Given the description of an element on the screen output the (x, y) to click on. 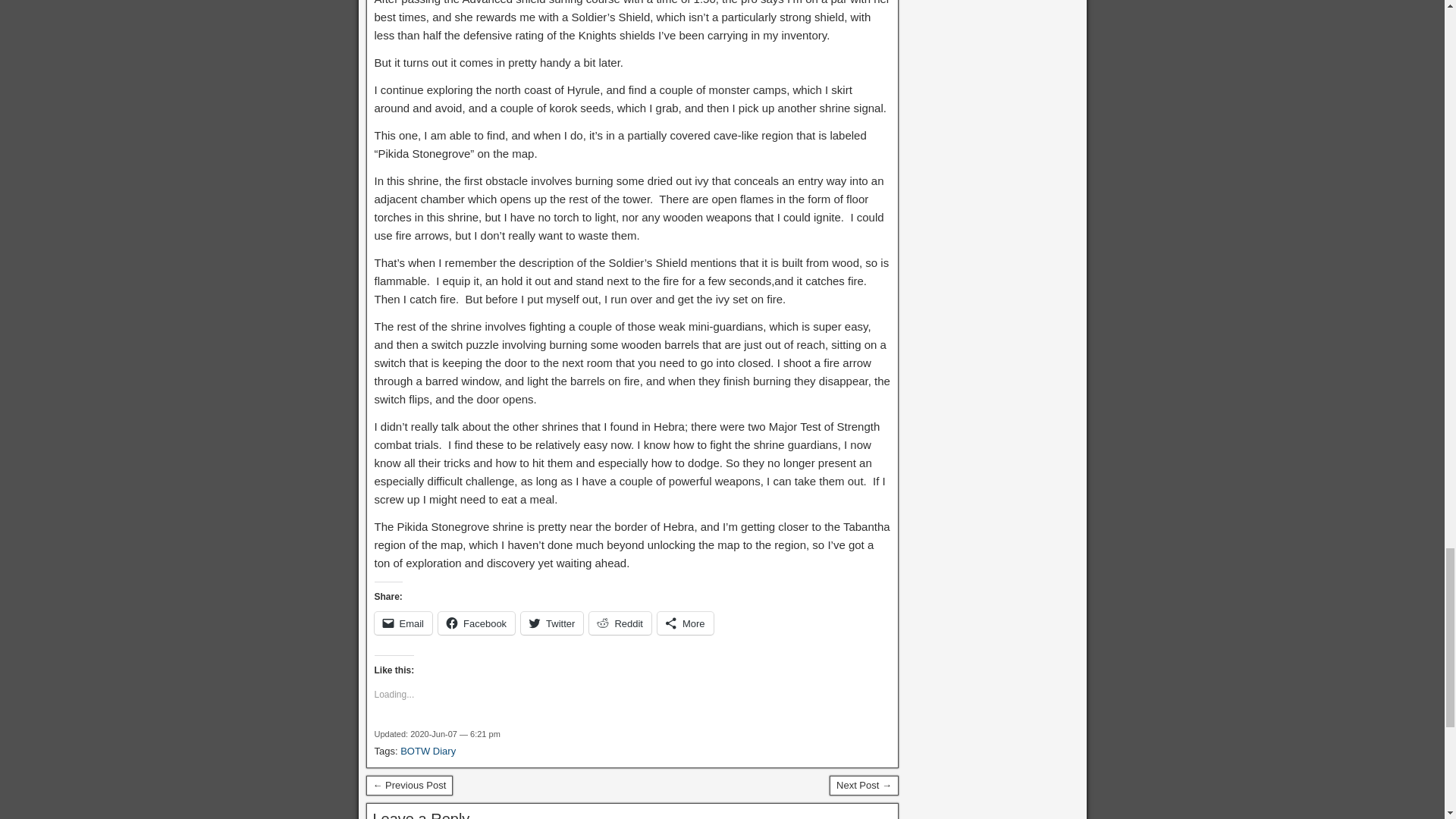
Click to share on Facebook (476, 622)
Click to email a link to a friend (403, 622)
Click to share on Twitter (552, 622)
Click to share on Reddit (619, 622)
